Given the description of an element on the screen output the (x, y) to click on. 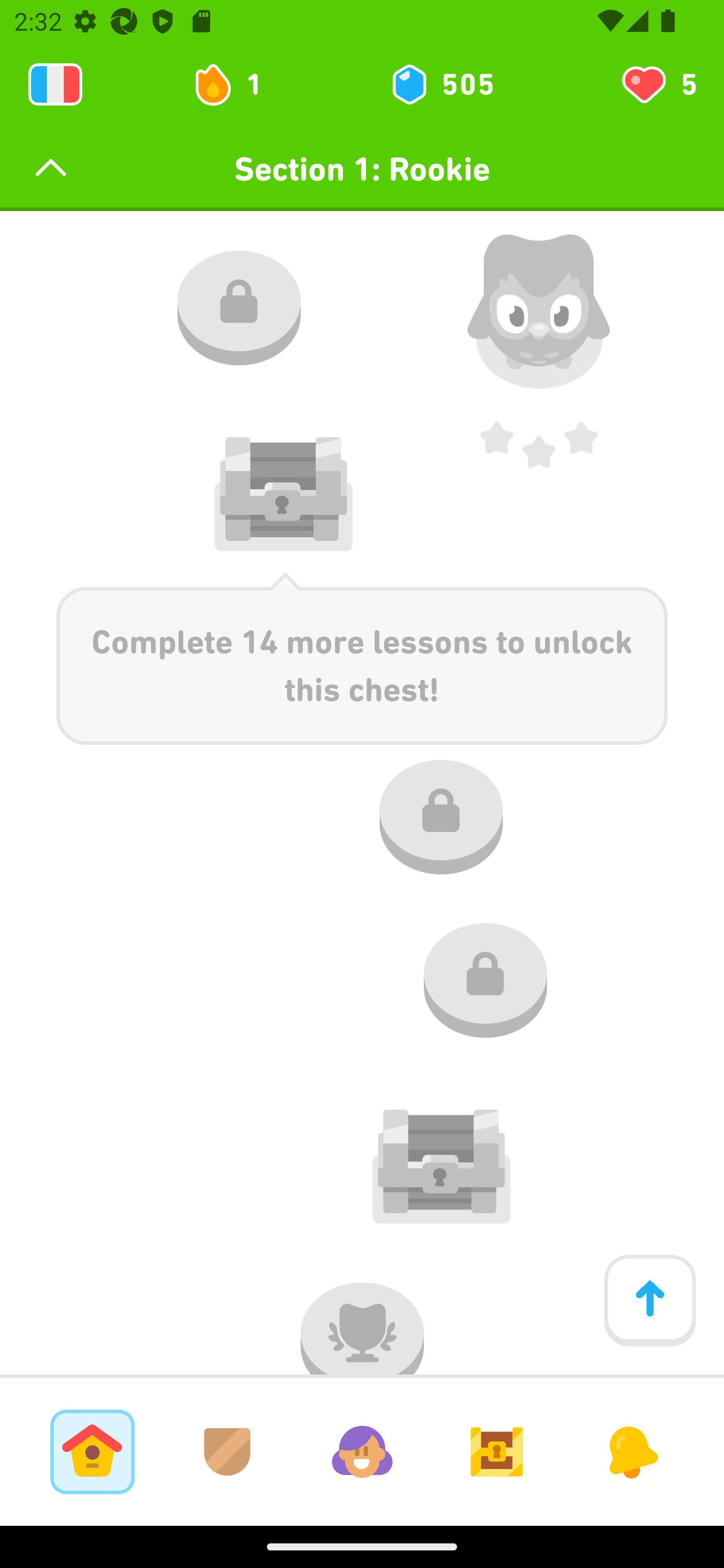
Learning 2131888976 (55, 84)
1 day streak 1 (236, 84)
505 (441, 84)
You have 5 hearts left 5 (657, 84)
Section 1: Rookie (362, 169)
Complete 14 more lessons to unlock this chest! (361, 658)
Learn Tab (91, 1451)
Leagues Tab (227, 1451)
Profile Tab (361, 1451)
Goals Tab (496, 1451)
News Tab (631, 1451)
